Given the description of an element on the screen output the (x, y) to click on. 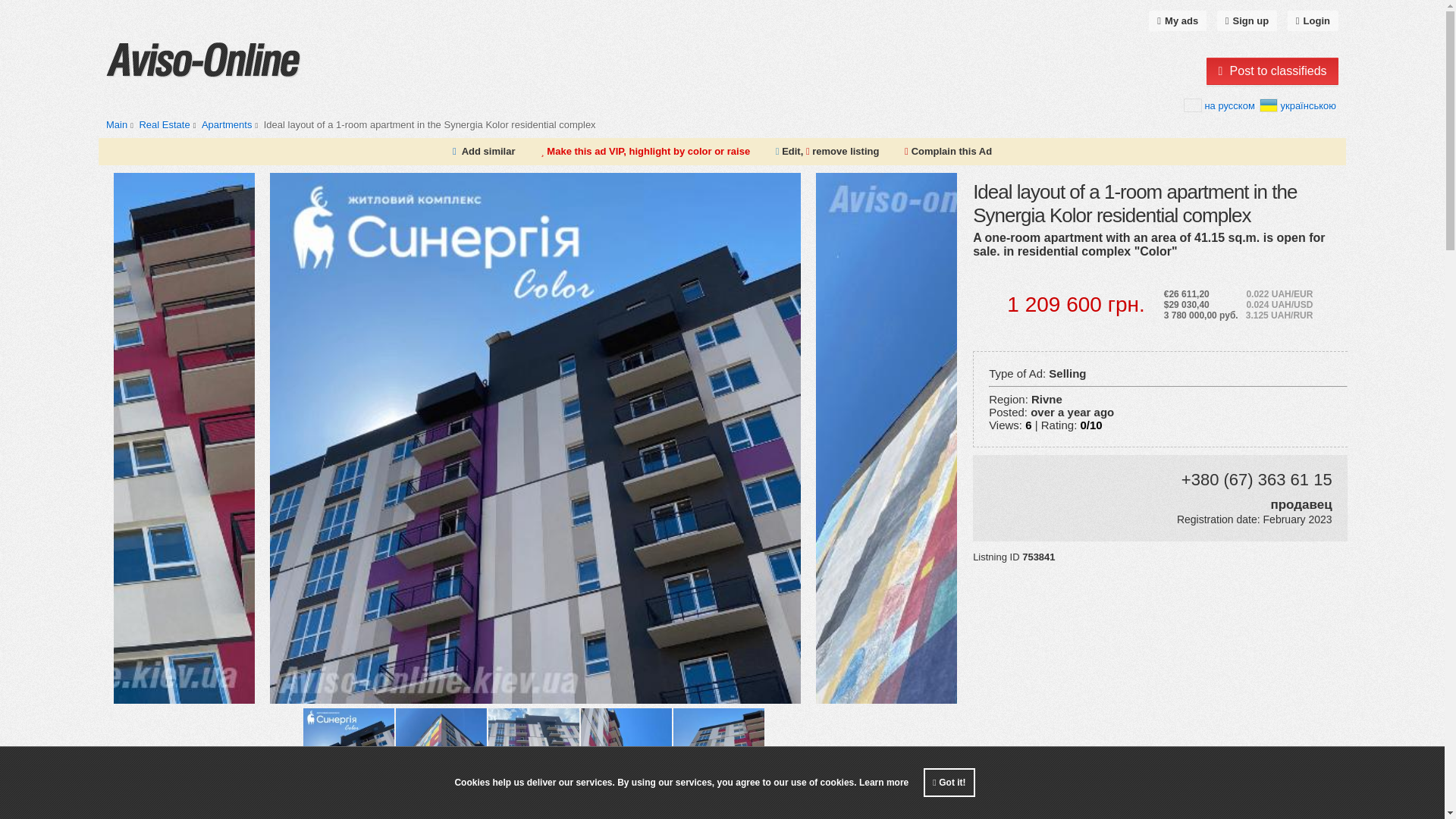
Complain this Ad (947, 151)
Add similar (488, 151)
Login (1312, 20)
Real Estate (163, 124)
26815 (168, 124)
Sign up (1246, 20)
Make this ad VIP, highlight by color or raise (644, 151)
Main (117, 124)
Complain this Ad (948, 151)
Apartments (226, 124)
